Given the description of an element on the screen output the (x, y) to click on. 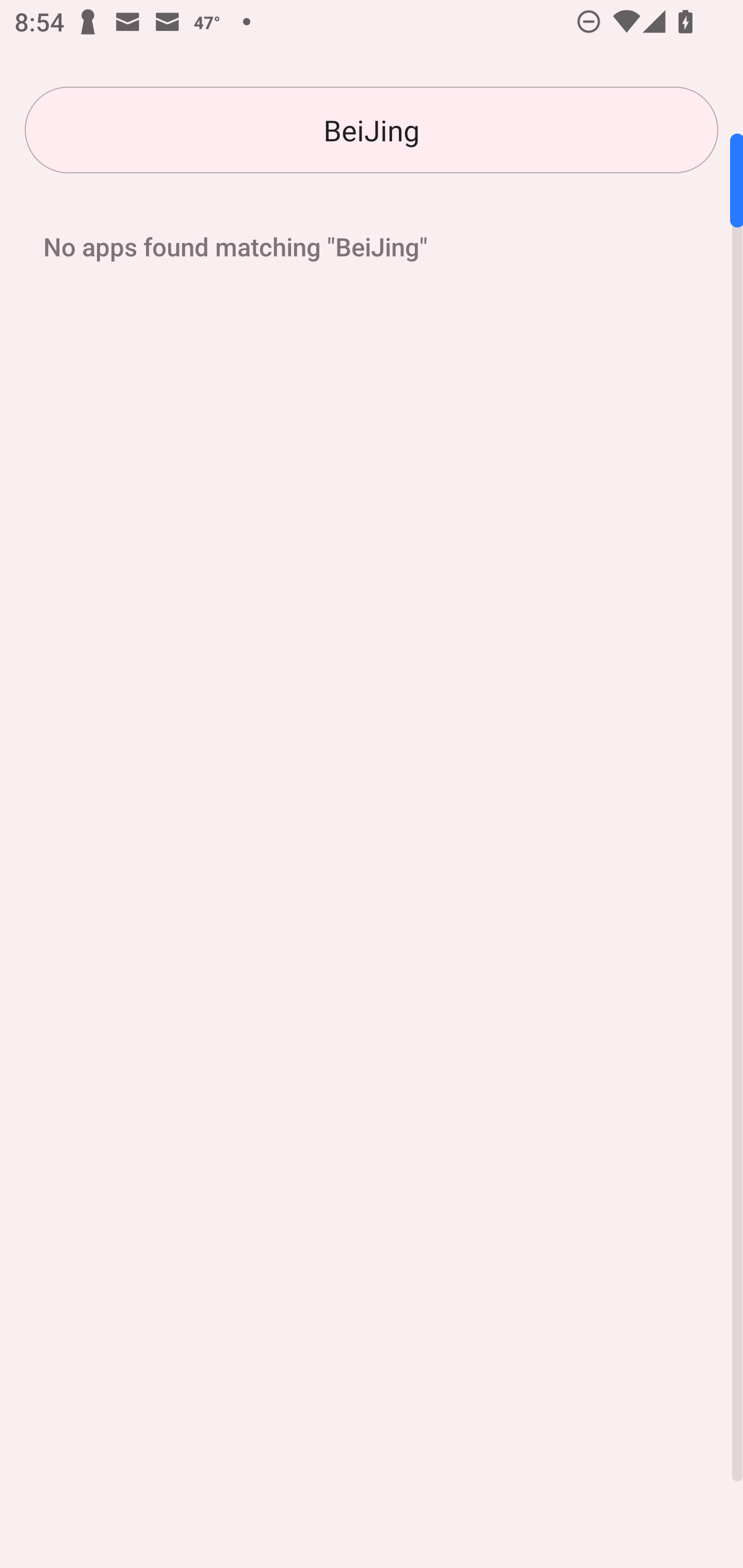
BeiJing (371, 130)
